Given the description of an element on the screen output the (x, y) to click on. 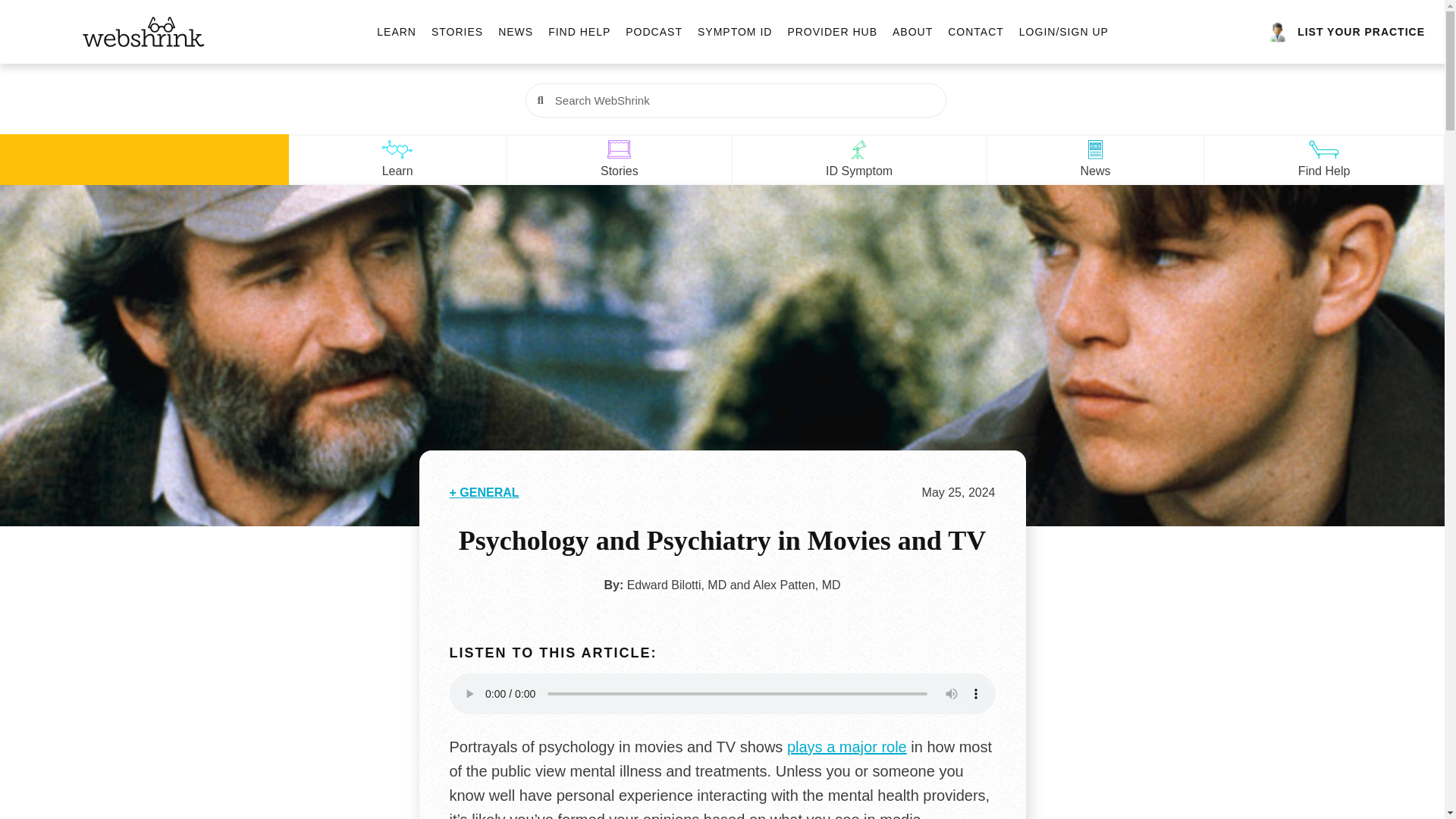
SYMPTOM ID (734, 31)
NEWS (514, 31)
CONTACT (975, 31)
PROVIDER HUB (832, 31)
LEARN (396, 31)
STORIES (456, 31)
Search (743, 100)
ABOUT (912, 31)
PODCAST (654, 31)
FIND HELP (579, 31)
